Given the description of an element on the screen output the (x, y) to click on. 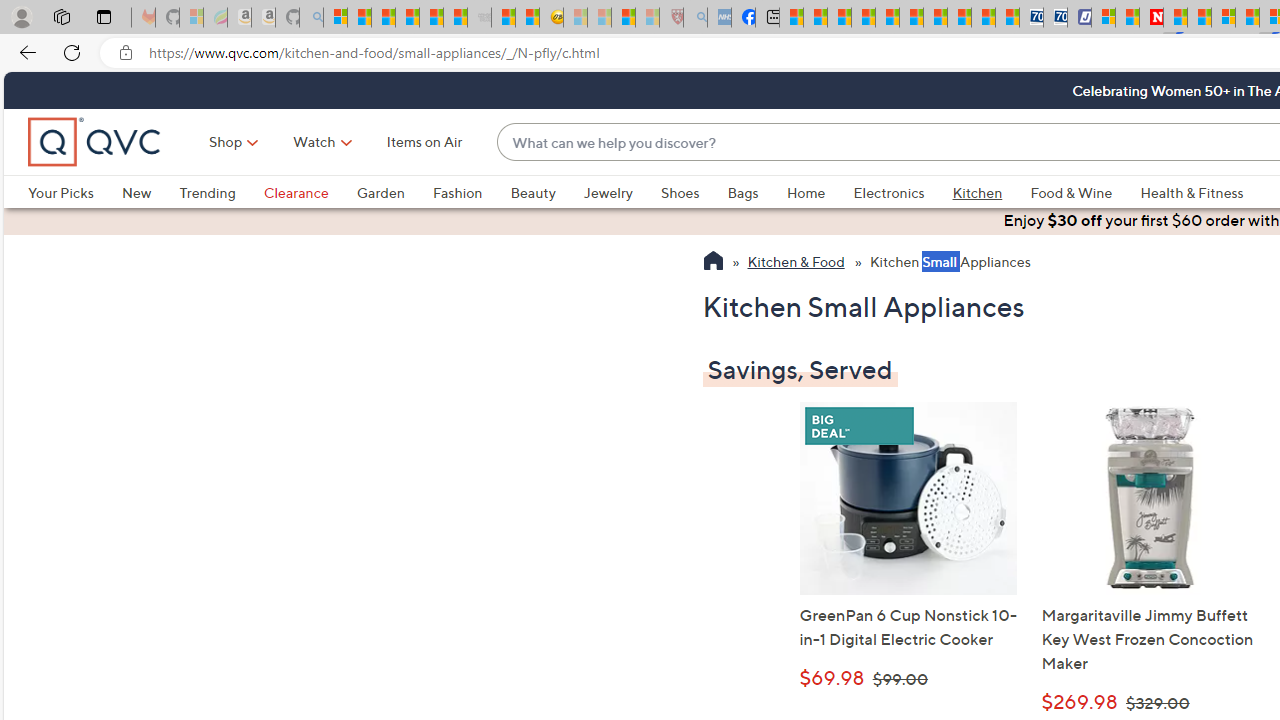
The Weather Channel - MSN (383, 17)
